Given the description of an element on the screen output the (x, y) to click on. 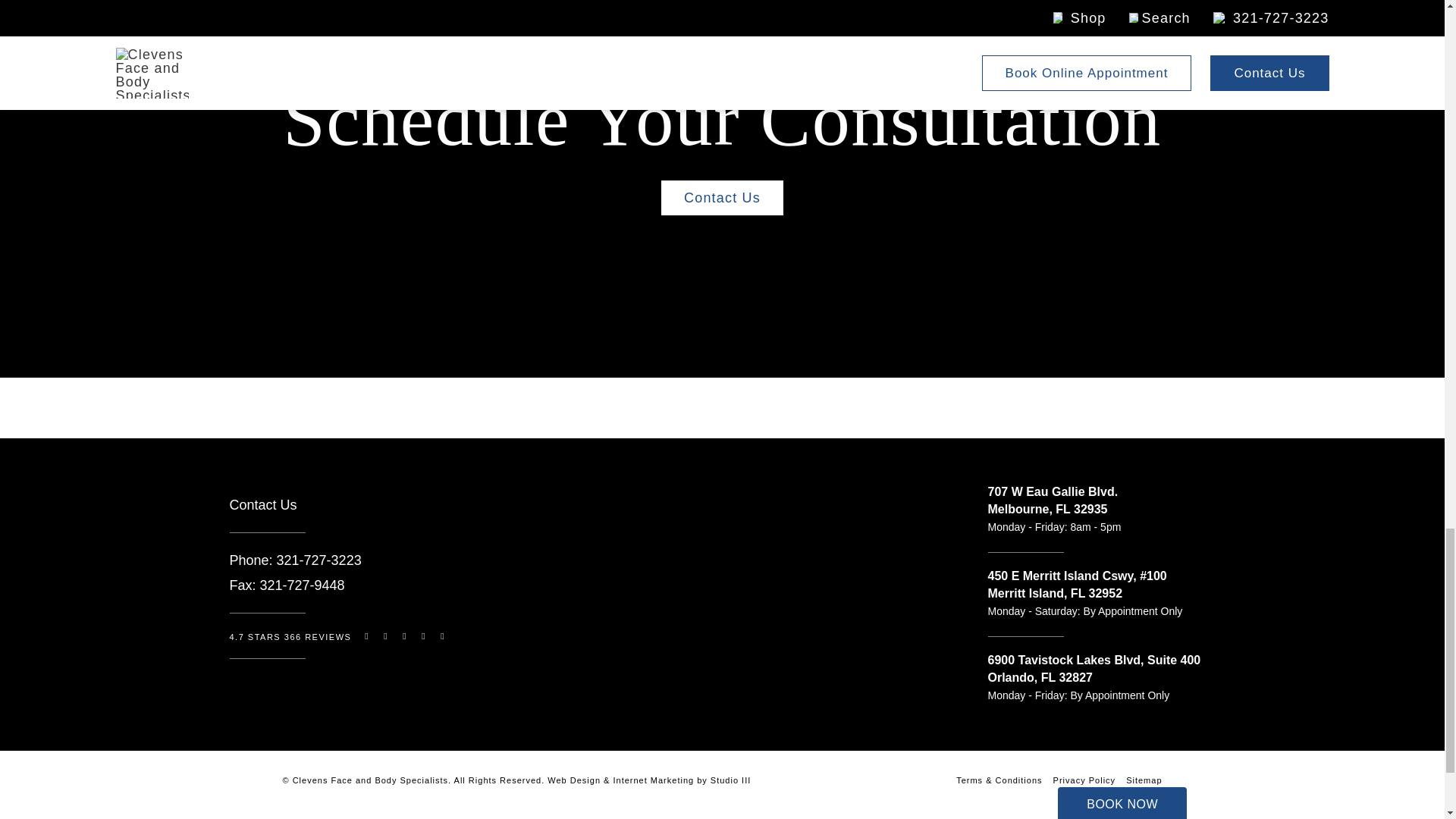
Clevens Face and Body Specialists on Instagram (236, 681)
Clevens Face and Body Specialists on Facebook (274, 681)
Clevens Face and Body Specialists on Tiktok (312, 681)
Clevens Face and Body Specialists on Youtube (348, 681)
Clevens Face and Body Specialists on Linkedin (386, 681)
